Given the description of an element on the screen output the (x, y) to click on. 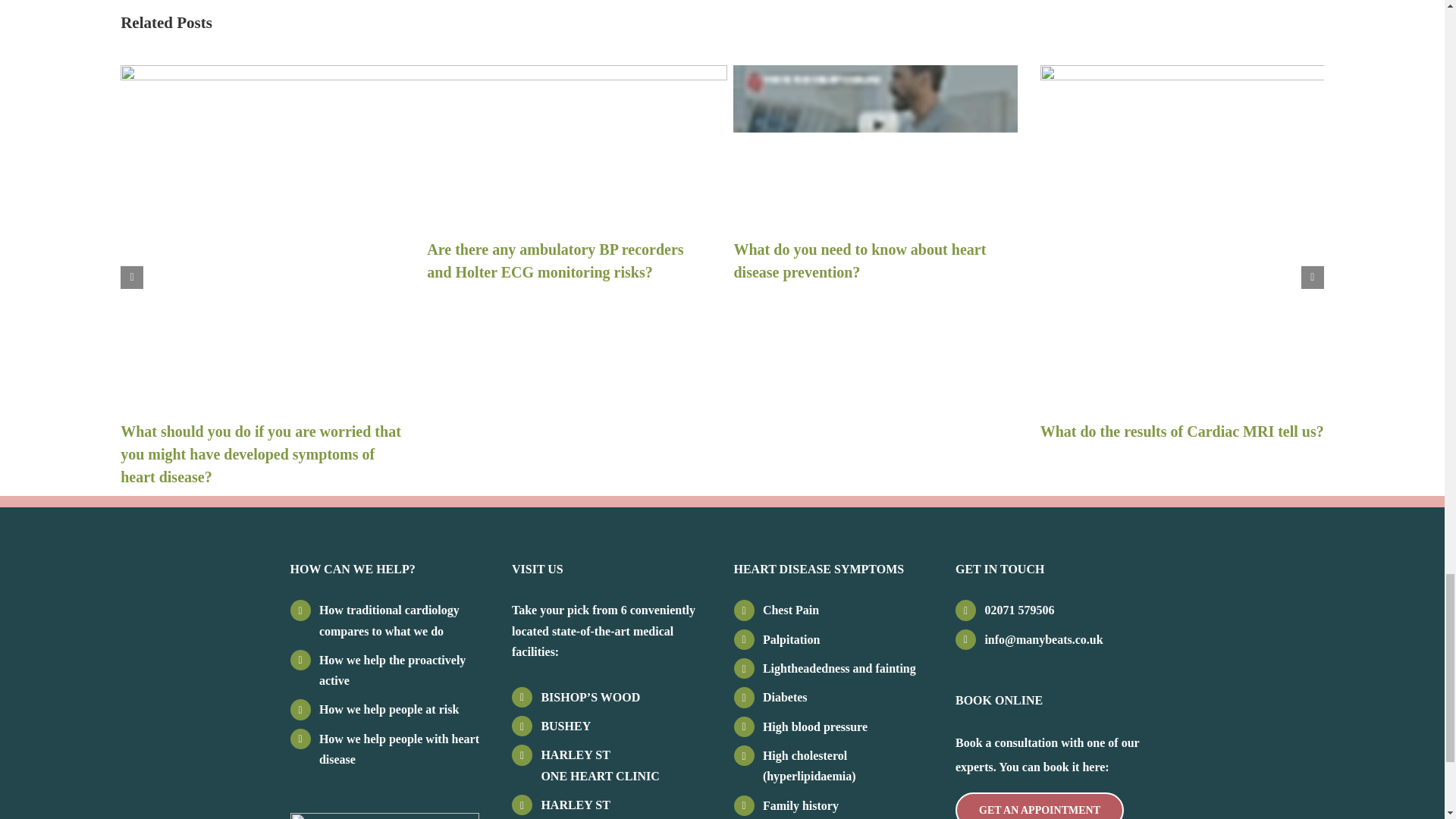
What do you need to know about heart disease prevention? (859, 260)
What do the results of Cardiac MRI tell us? (1182, 431)
